Given the description of an element on the screen output the (x, y) to click on. 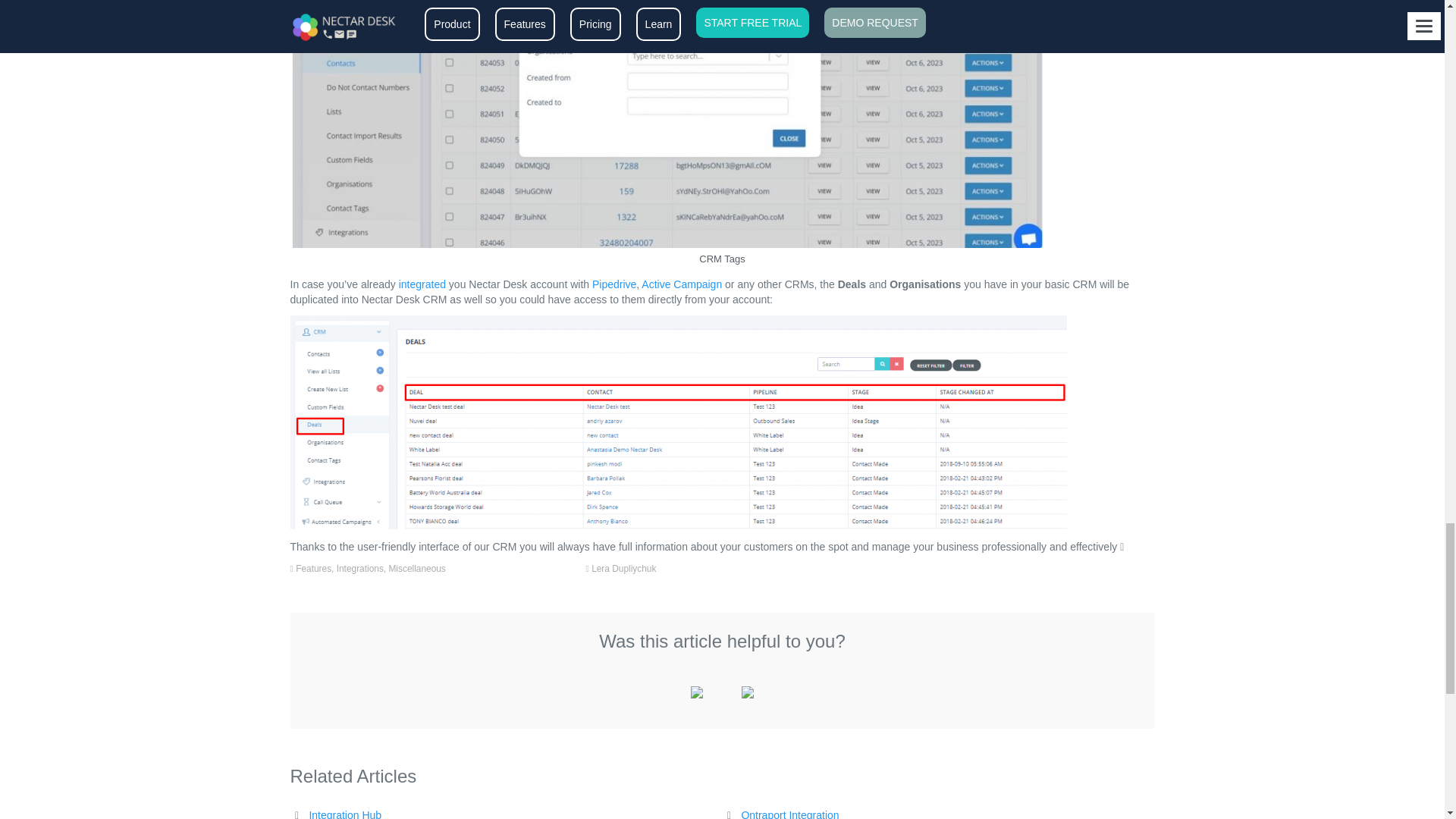
Pipedrive (614, 284)
Active Campaign (682, 284)
Miscellaneous (416, 568)
integrated (421, 284)
Integrations (360, 568)
Lera Dupliychuk (623, 568)
Features (313, 568)
